Given the description of an element on the screen output the (x, y) to click on. 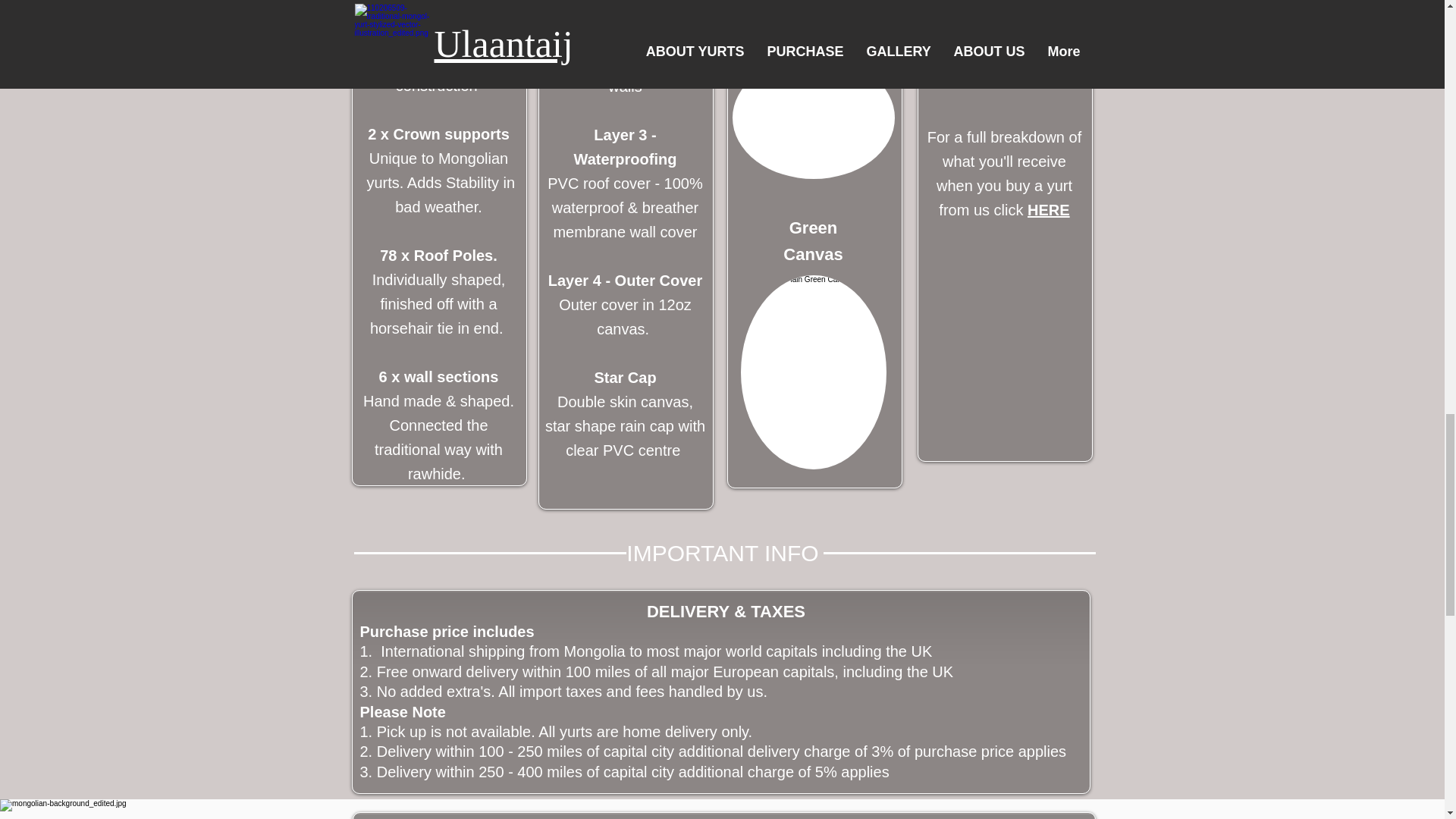
HERE (1048, 209)
